Given the description of an element on the screen output the (x, y) to click on. 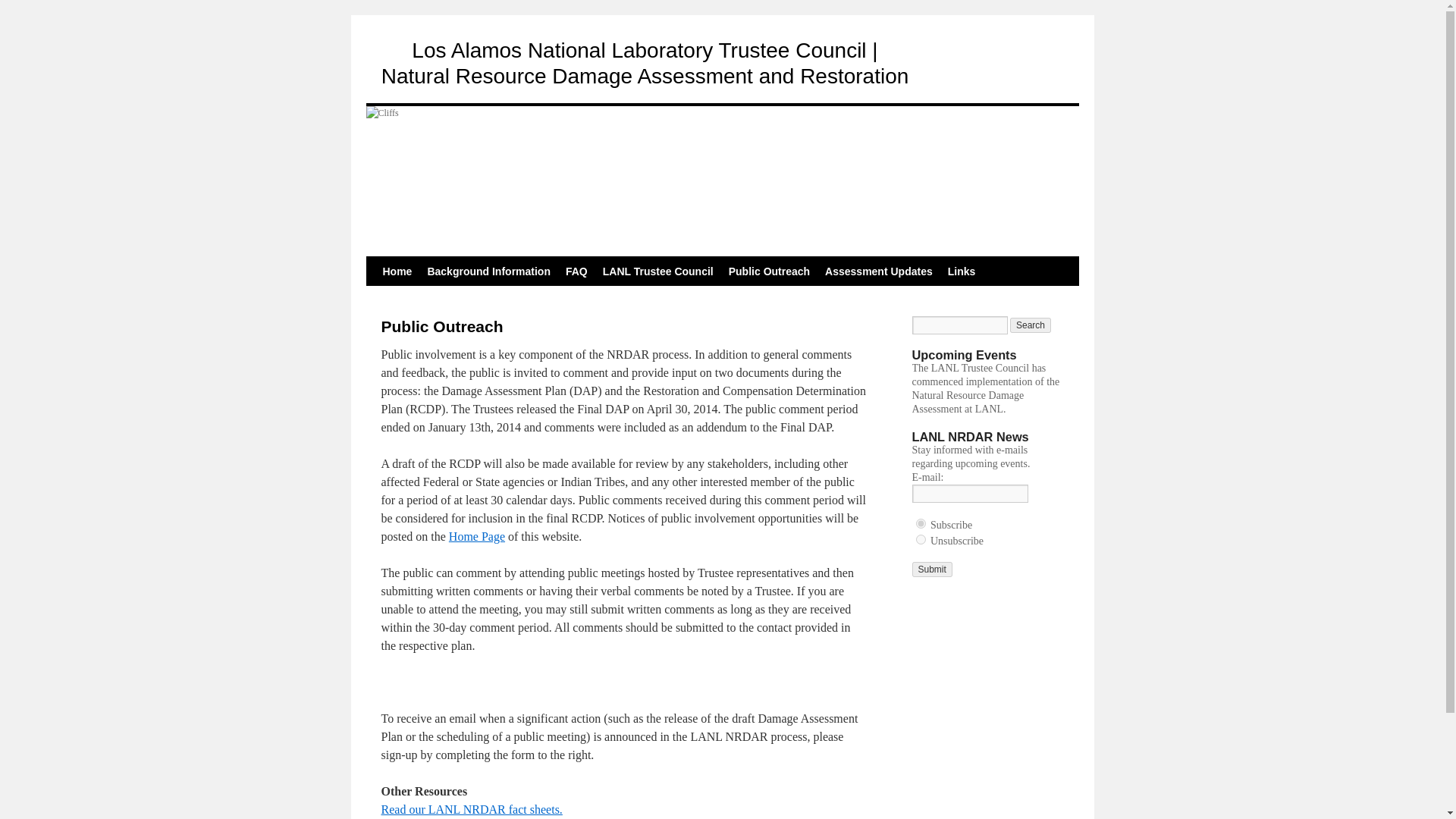
LANL Trustee Council (657, 271)
Read our LANL NRDAR fact sheets. (471, 811)
Submit (931, 569)
Search (1030, 324)
Home Page (476, 535)
Home (396, 271)
FAQ (576, 271)
LANL NRDA Fact Sheet (471, 811)
Submit (931, 569)
Public Outreach (768, 271)
